Given the description of an element on the screen output the (x, y) to click on. 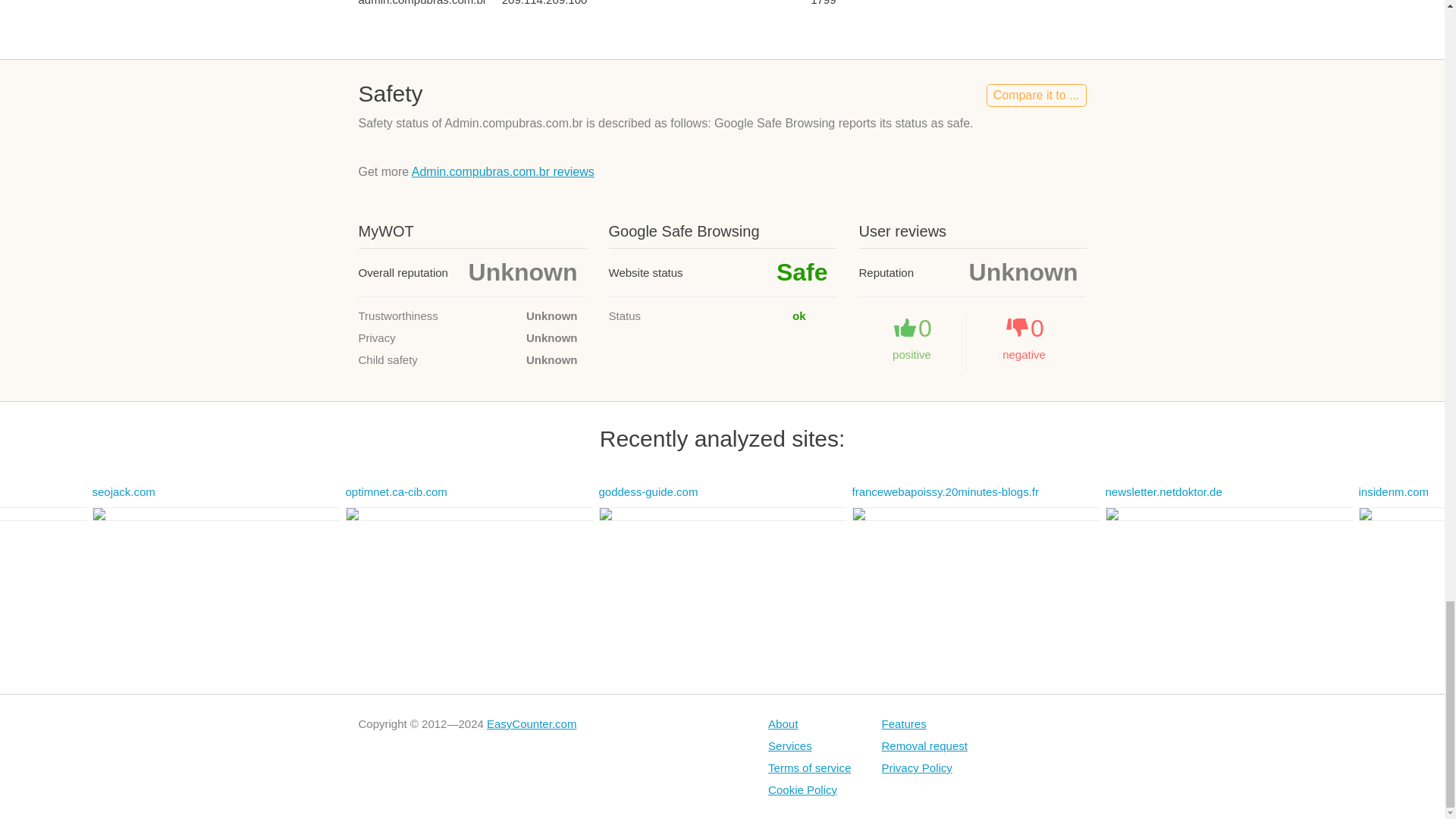
francewebapoissy.20minutes-blogs.fr (945, 491)
newsletter.netdoktor.de (1164, 491)
insidenm.com (1393, 491)
goddess-guide.com (648, 491)
Admin.compubras.com.br reviews (503, 171)
Compare it to ... (1036, 95)
